Given the description of an element on the screen output the (x, y) to click on. 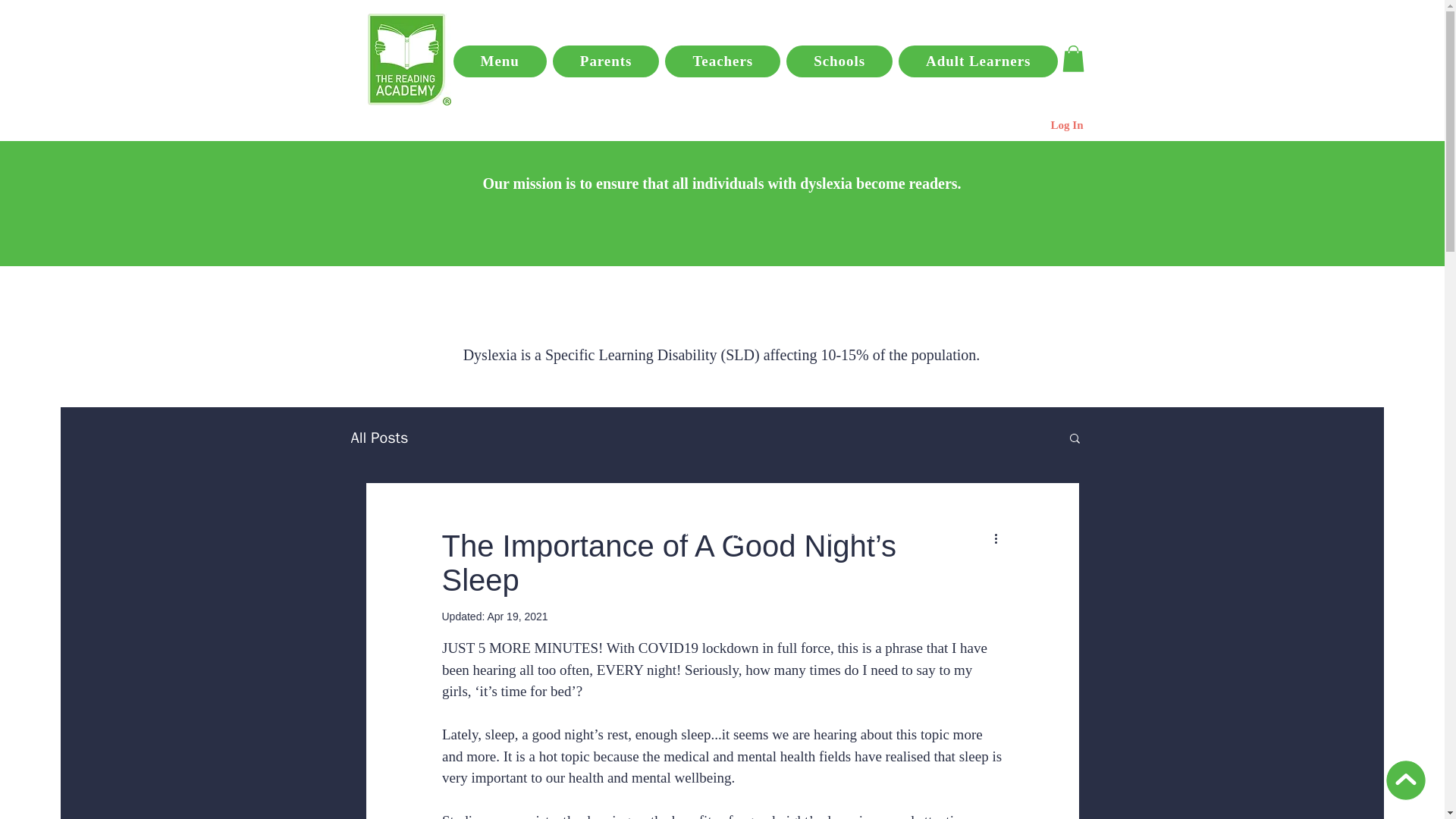
Teachers (722, 60)
Schools (839, 60)
All Posts (378, 437)
Parents (606, 60)
Adult Learners (978, 60)
Apr 19, 2021 (516, 616)
HERE (845, 511)
Log In (1067, 125)
